Given the description of an element on the screen output the (x, y) to click on. 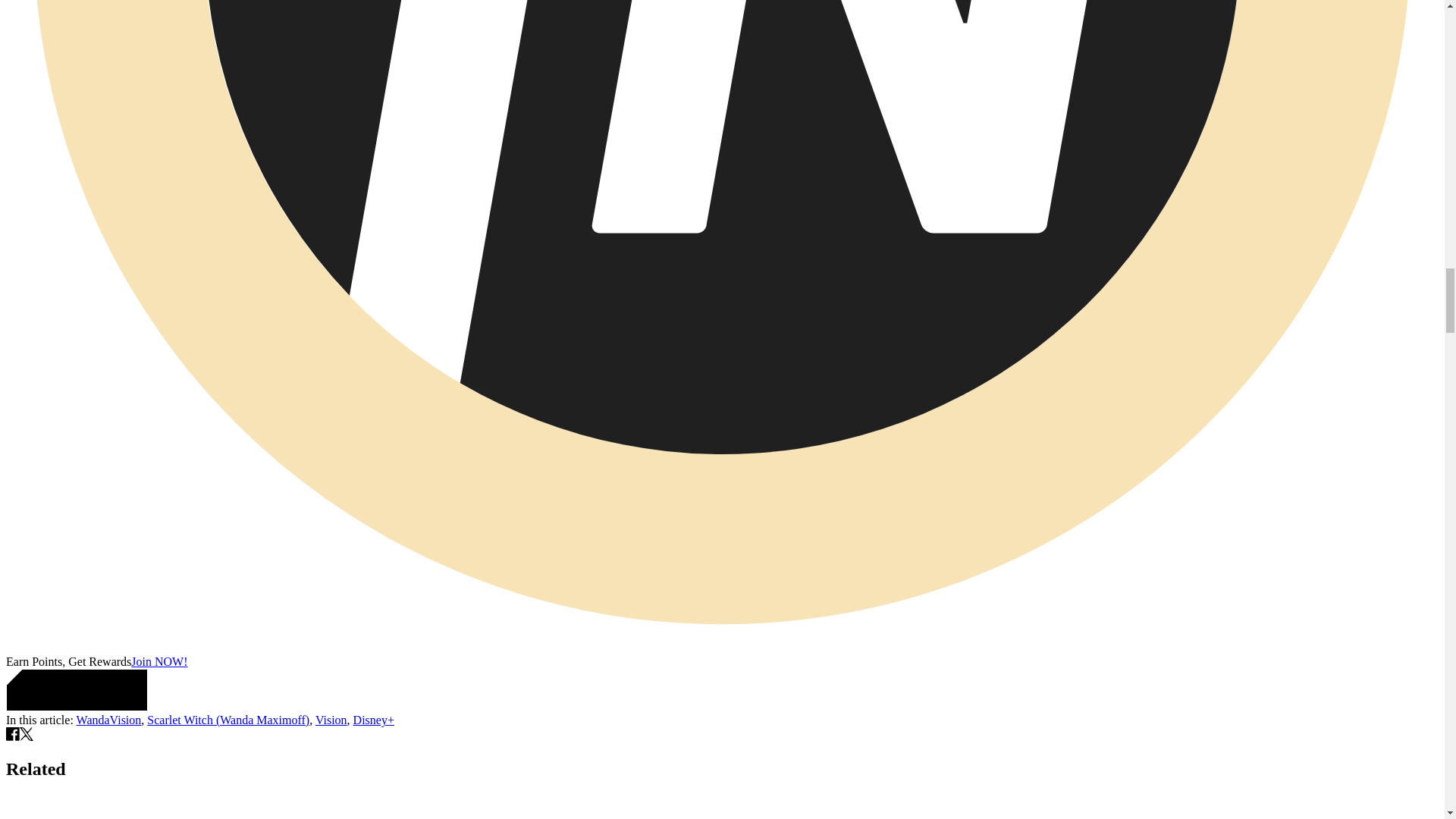
Join NOW! (159, 661)
WandaVision (109, 719)
Vision (331, 719)
